Given the description of an element on the screen output the (x, y) to click on. 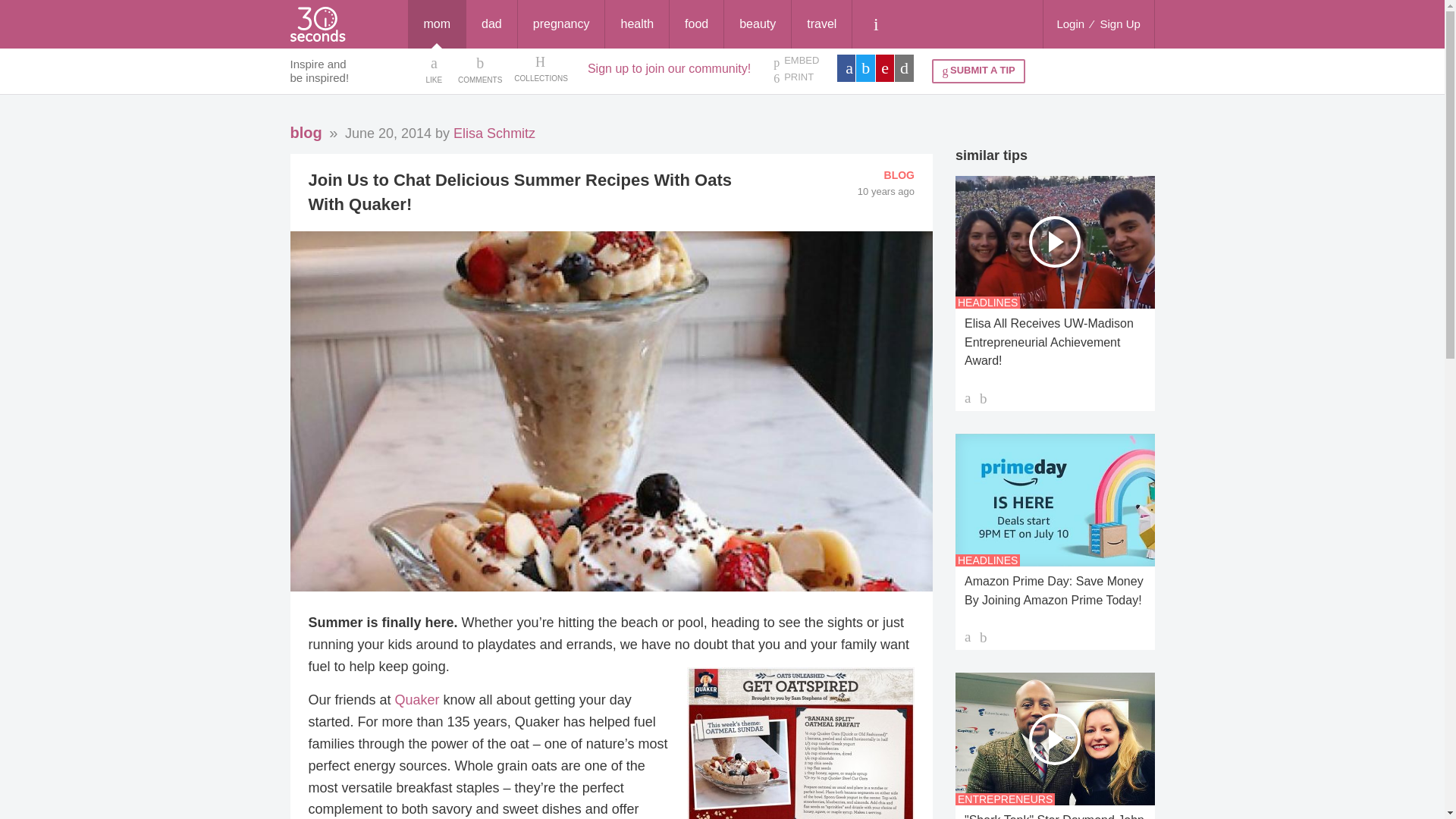
Quaker (416, 699)
COMMENTS (480, 68)
Sign up to join our community! (669, 68)
Sign Up (1120, 23)
dad (490, 24)
health (636, 24)
mom (436, 24)
COMMENTS (480, 68)
food (696, 24)
COLLECTIONS (540, 68)
